Given the description of an element on the screen output the (x, y) to click on. 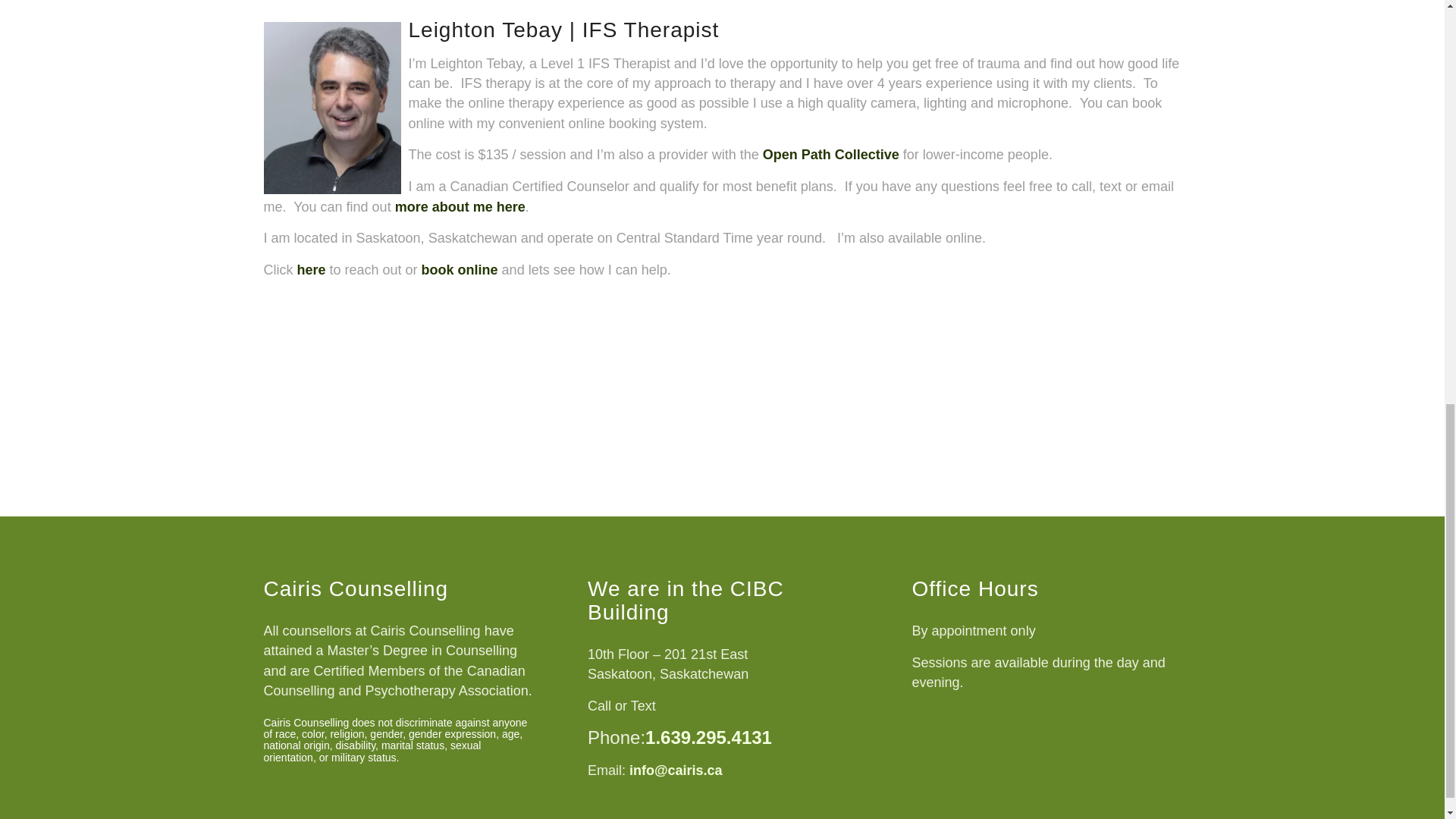
book online (459, 269)
here (311, 269)
more about me here (459, 206)
1.639.295.4131 (708, 737)
Open Path Collective (830, 154)
